Given the description of an element on the screen output the (x, y) to click on. 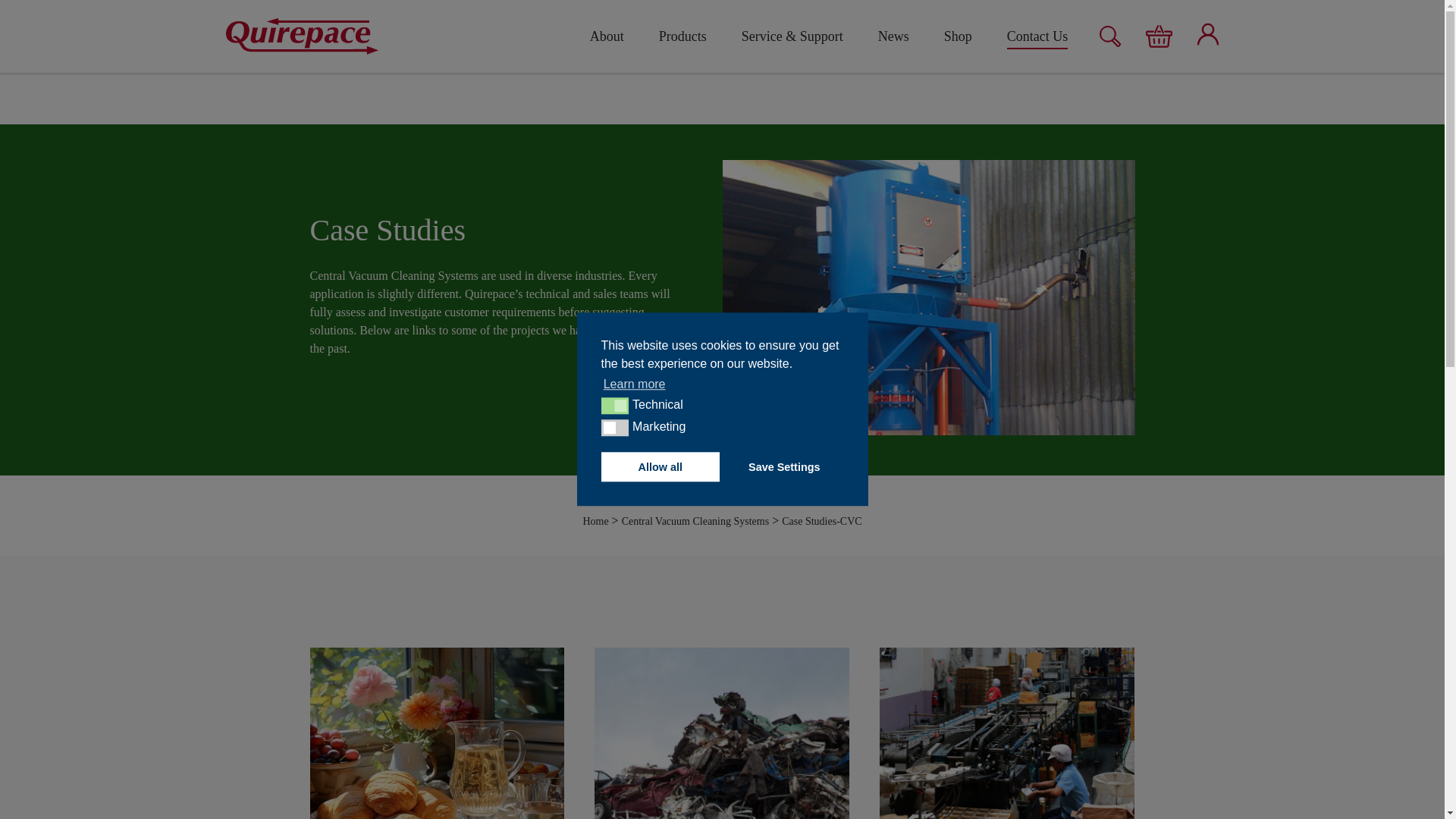
Products (682, 36)
About (607, 36)
